Given the description of an element on the screen output the (x, y) to click on. 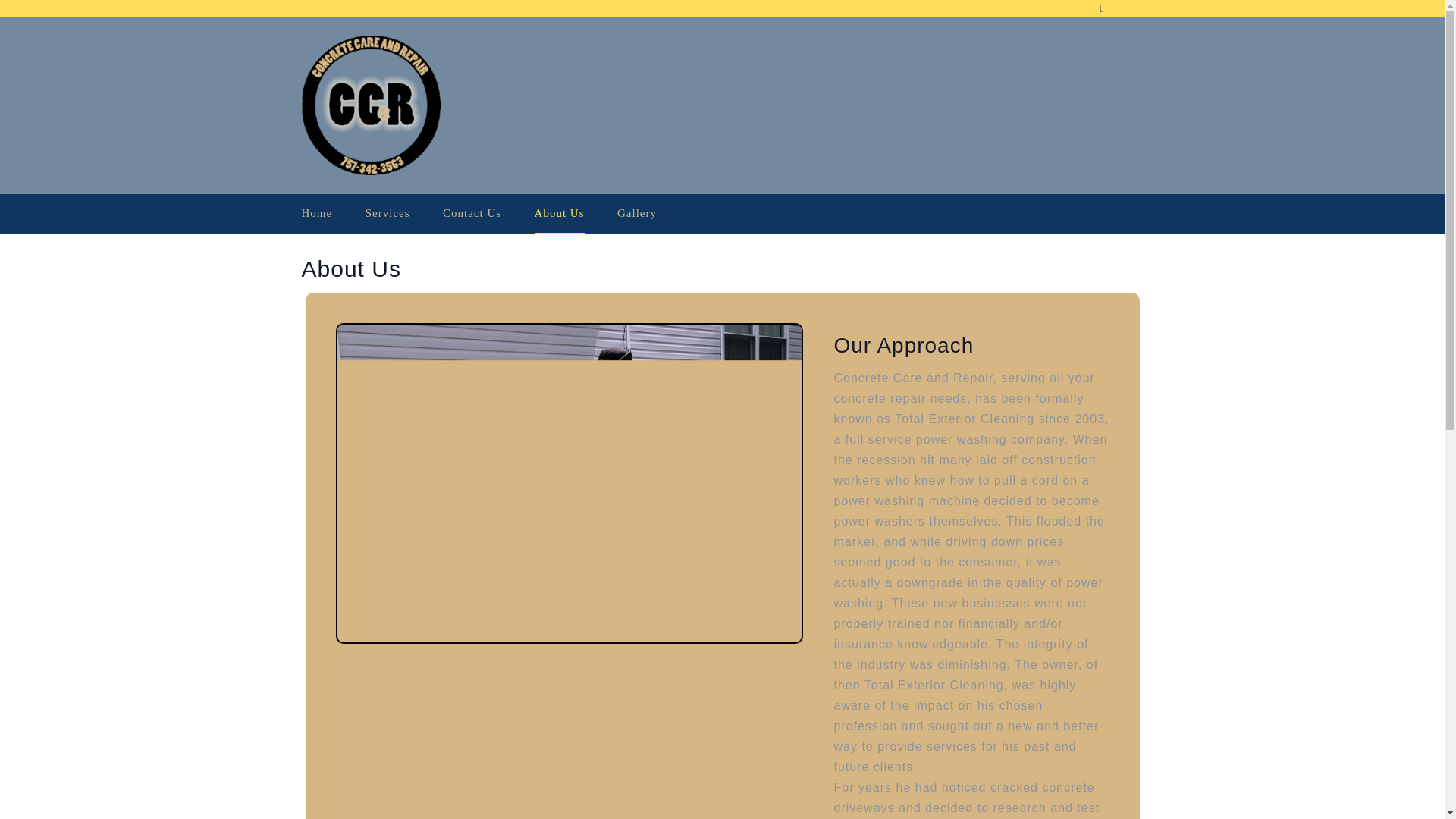
About Us (559, 214)
Contact Us (471, 213)
Gallery (636, 213)
Services (387, 213)
